Given the description of an element on the screen output the (x, y) to click on. 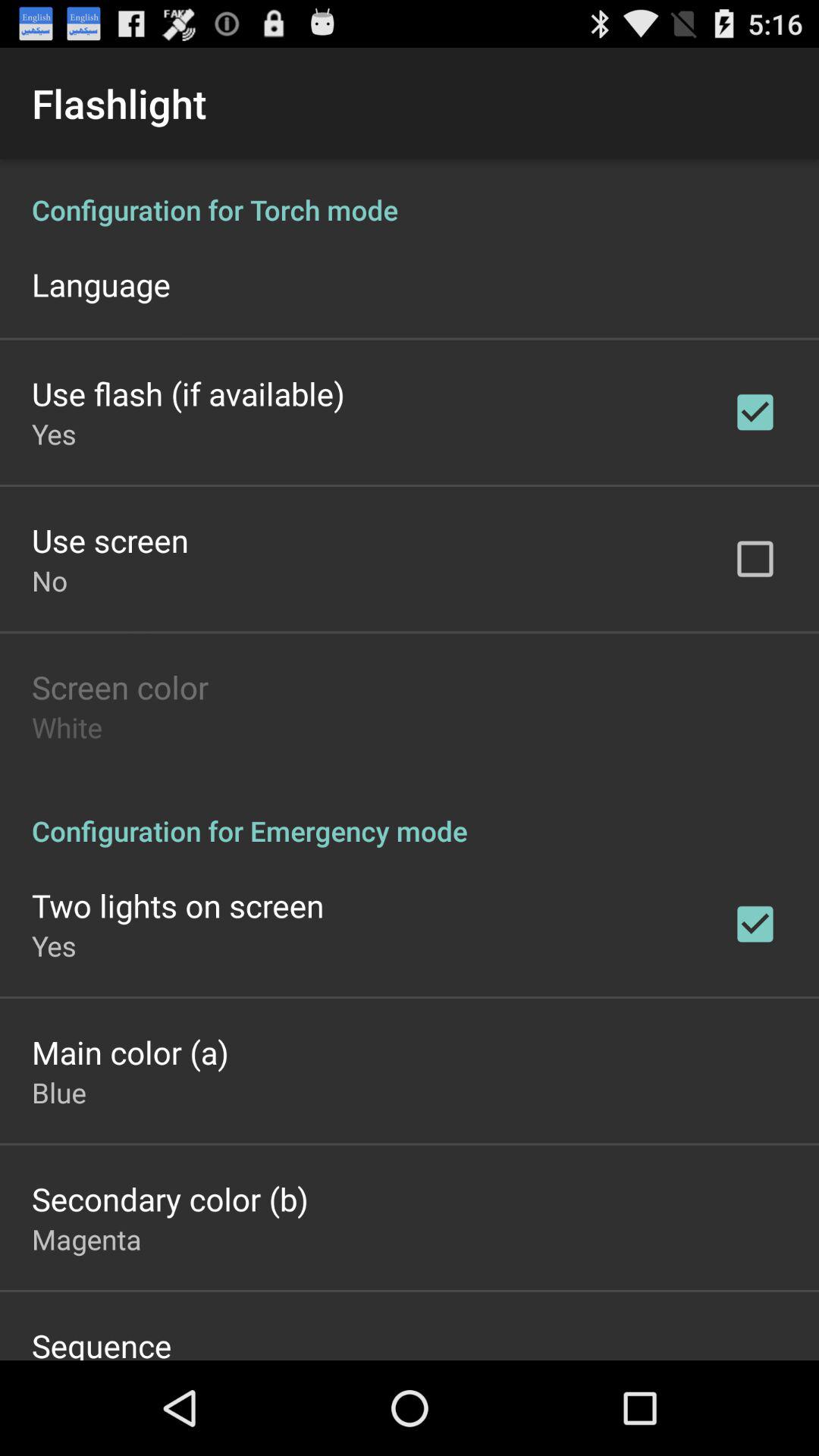
click the item below yes item (109, 539)
